Given the description of an element on the screen output the (x, y) to click on. 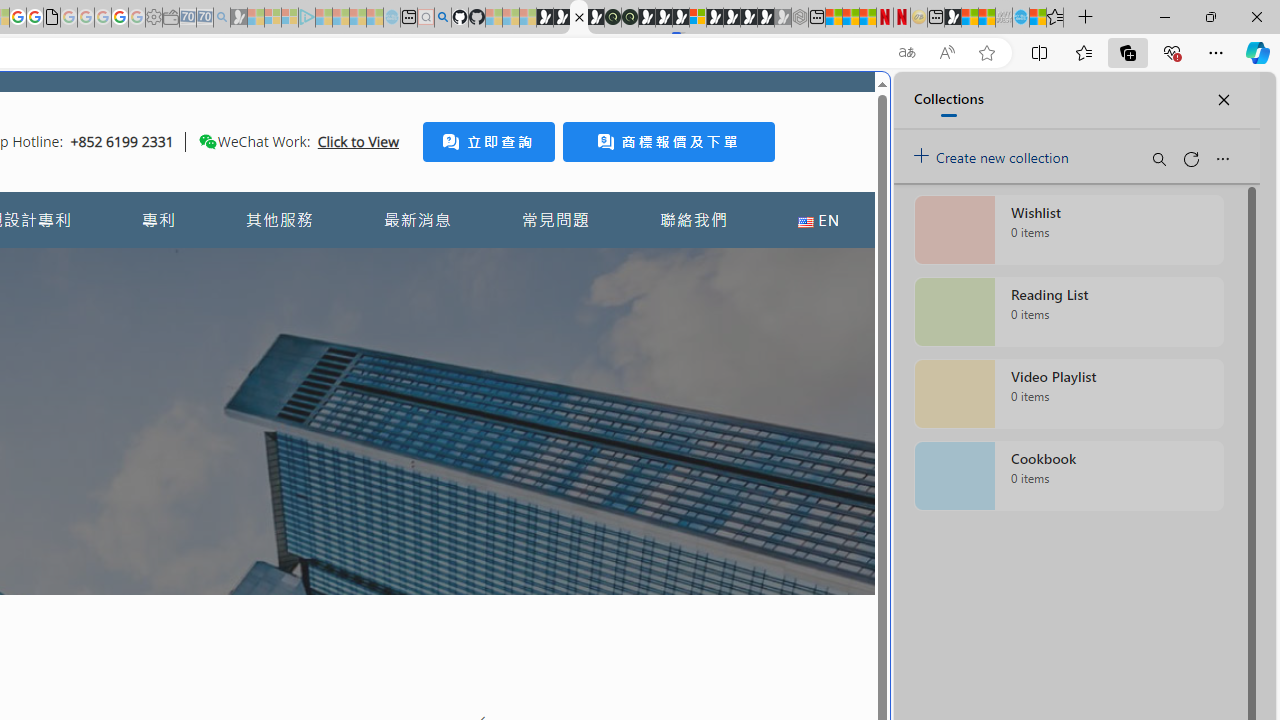
Sign in to your account (697, 17)
Settings - Sleeping (153, 17)
Earth has six continents not seven, radical new study claims (986, 17)
